Given the description of an element on the screen output the (x, y) to click on. 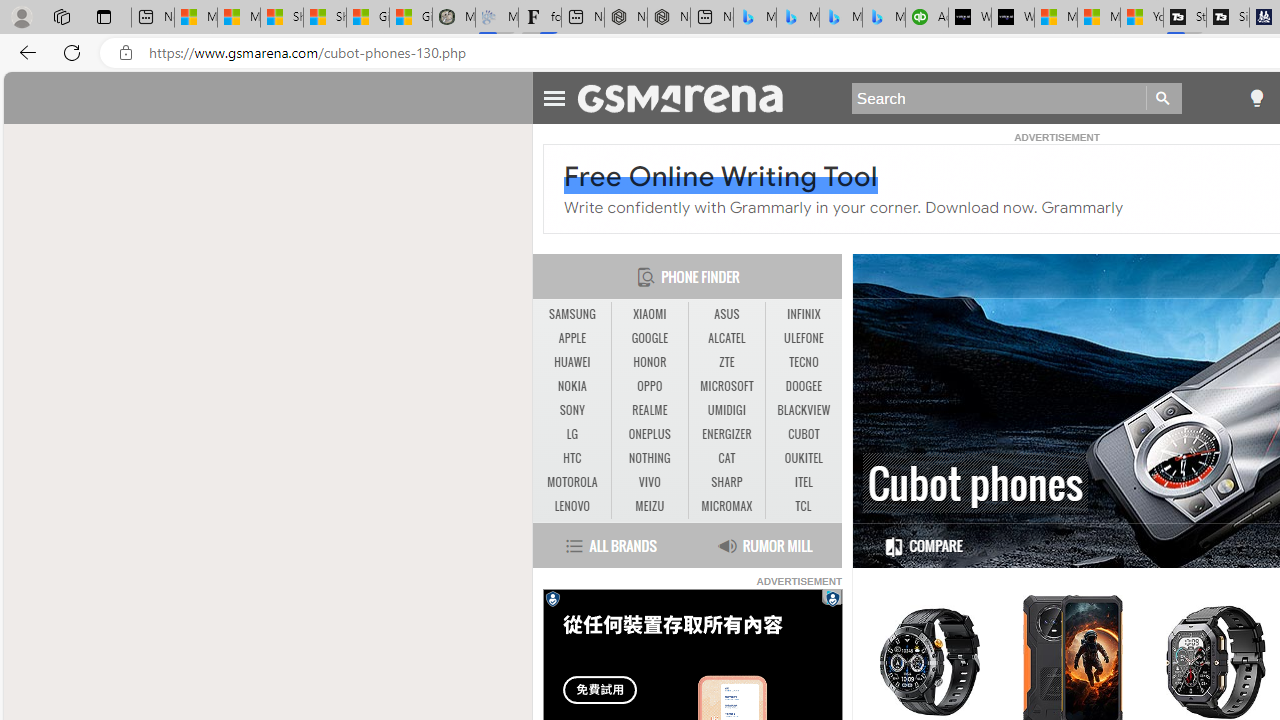
ONEPLUS (649, 434)
NOTHING (649, 458)
ALCATEL (726, 338)
GOOGLE (649, 338)
OUKITEL (803, 458)
NOKIA (571, 385)
Class: qc-adchoices-icon (833, 596)
OPPO (649, 386)
INFINIX (803, 314)
Go (1163, 97)
